Given the description of an element on the screen output the (x, y) to click on. 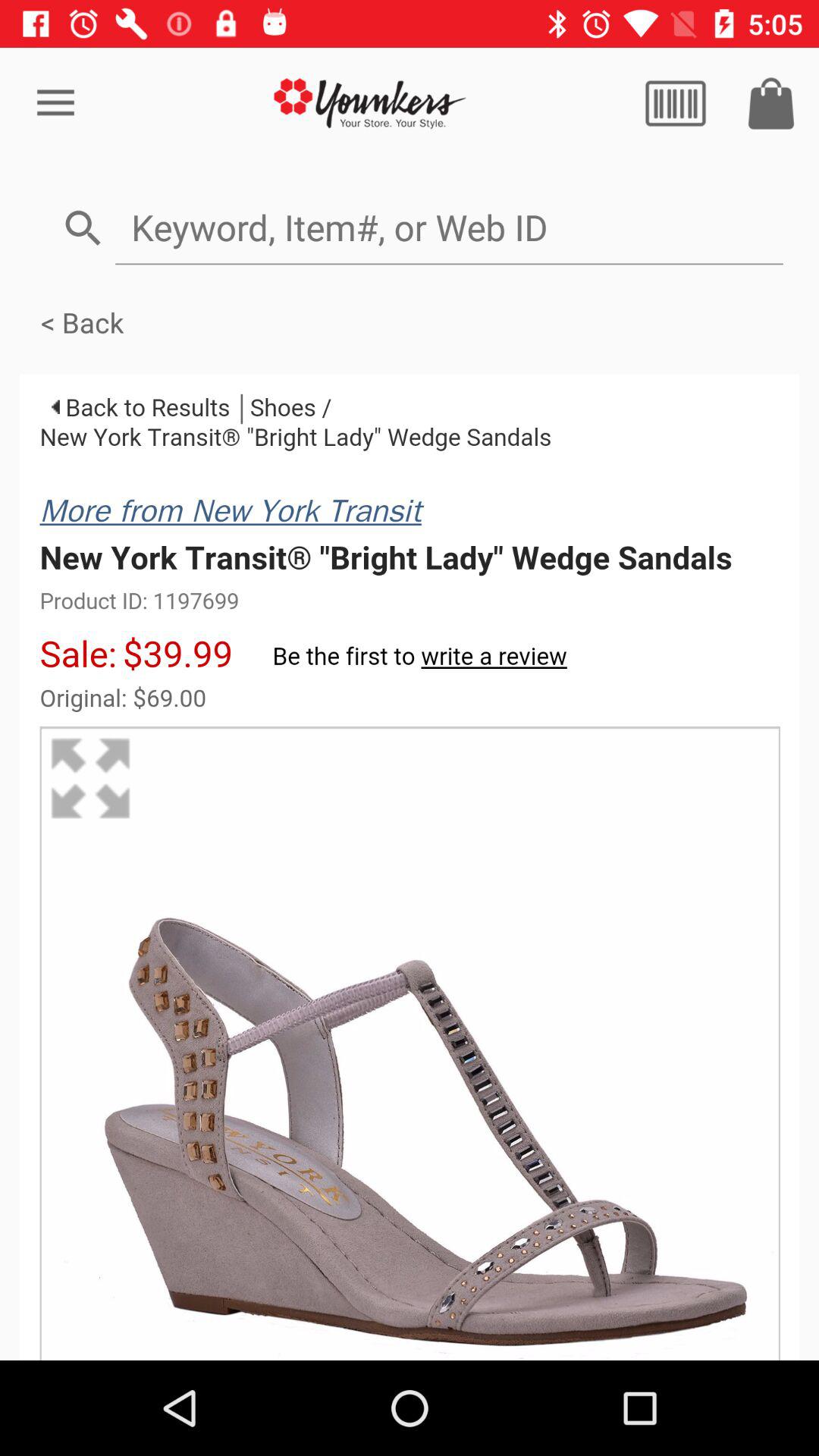
go to home (369, 103)
